Given the description of an element on the screen output the (x, y) to click on. 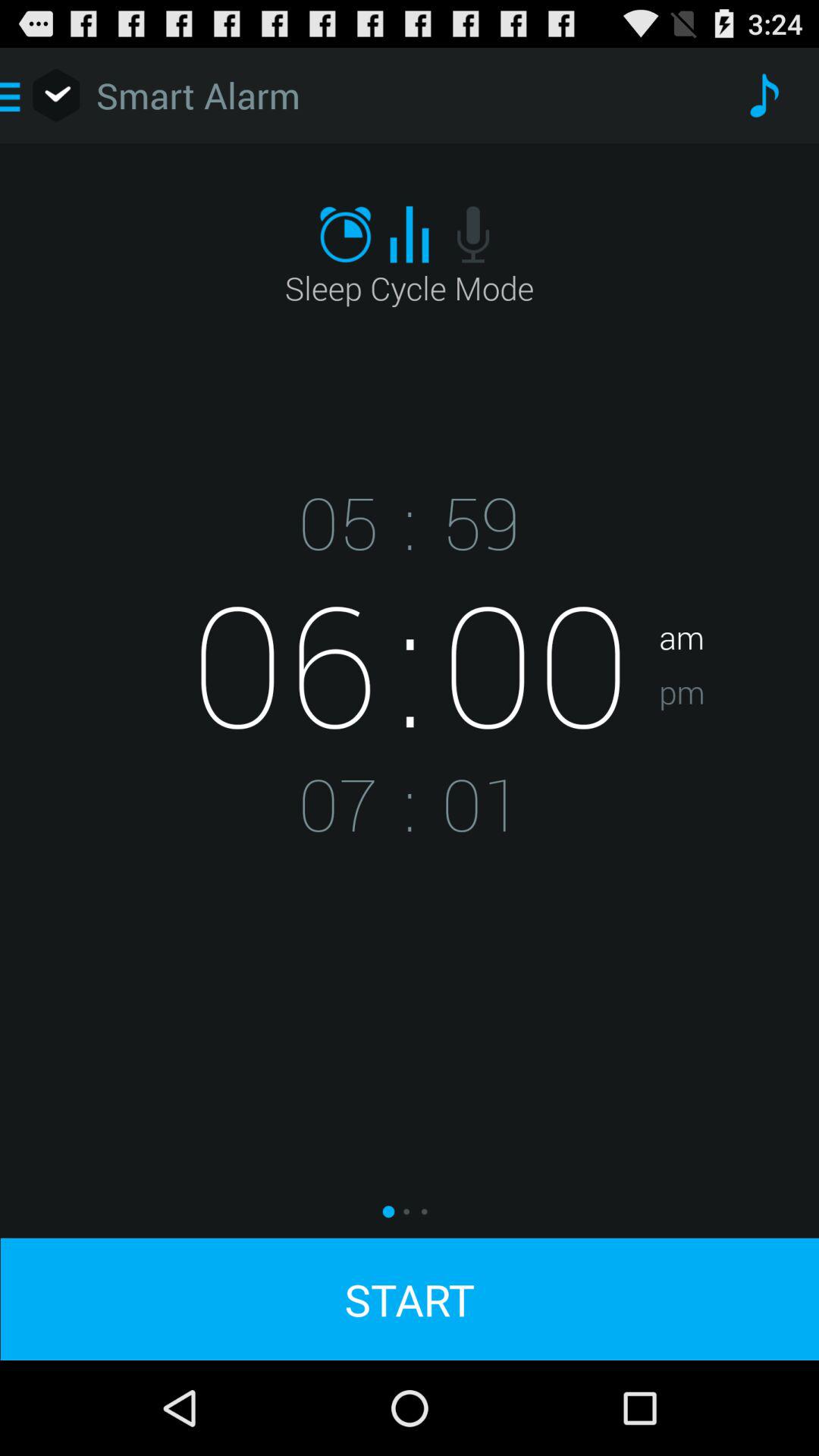
turn on the icon below the am icon (739, 739)
